Given the description of an element on the screen output the (x, y) to click on. 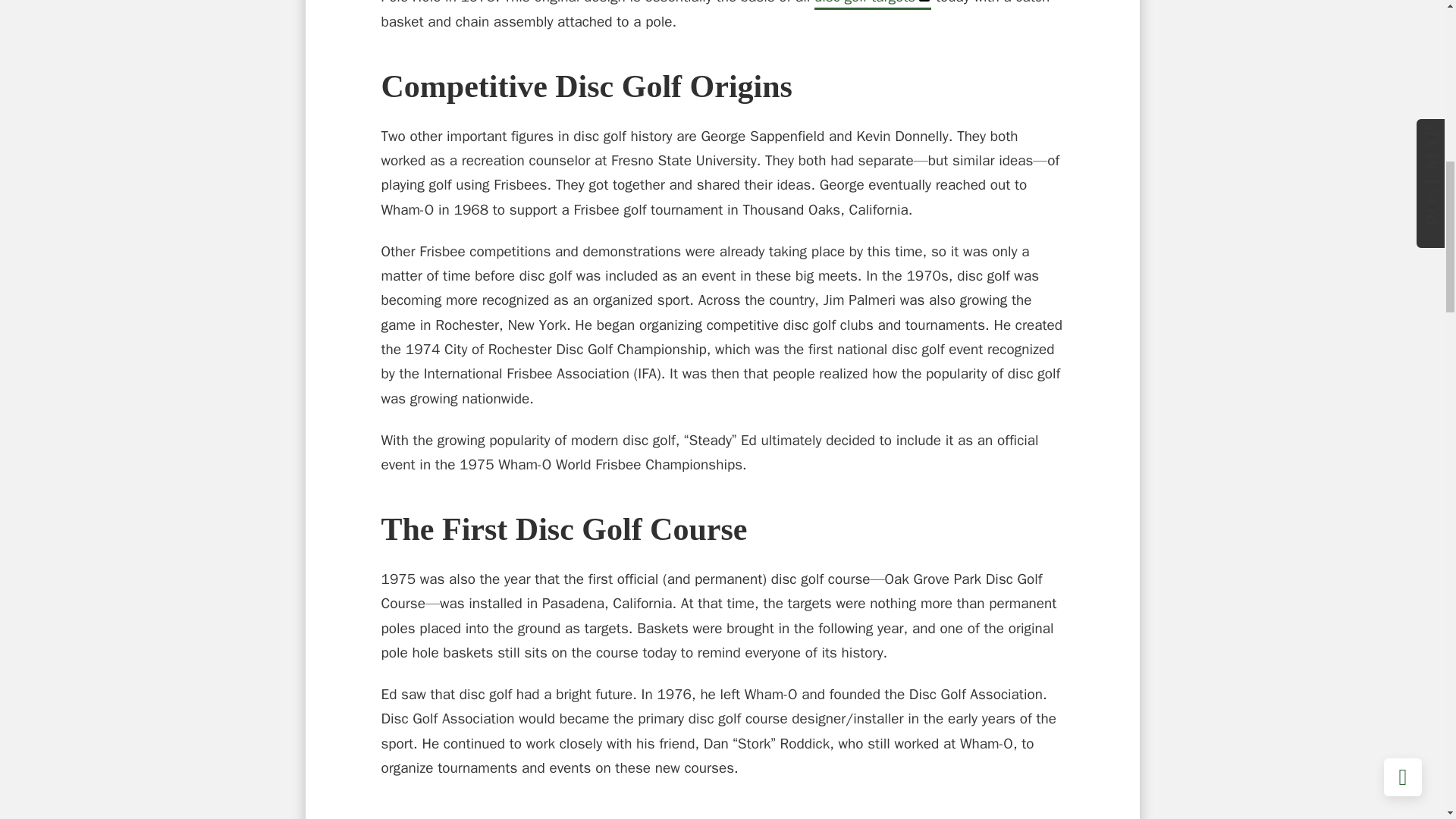
Link goes to external site. (924, 2)
Innova Disc Golf Targets (872, 4)
